Given the description of an element on the screen output the (x, y) to click on. 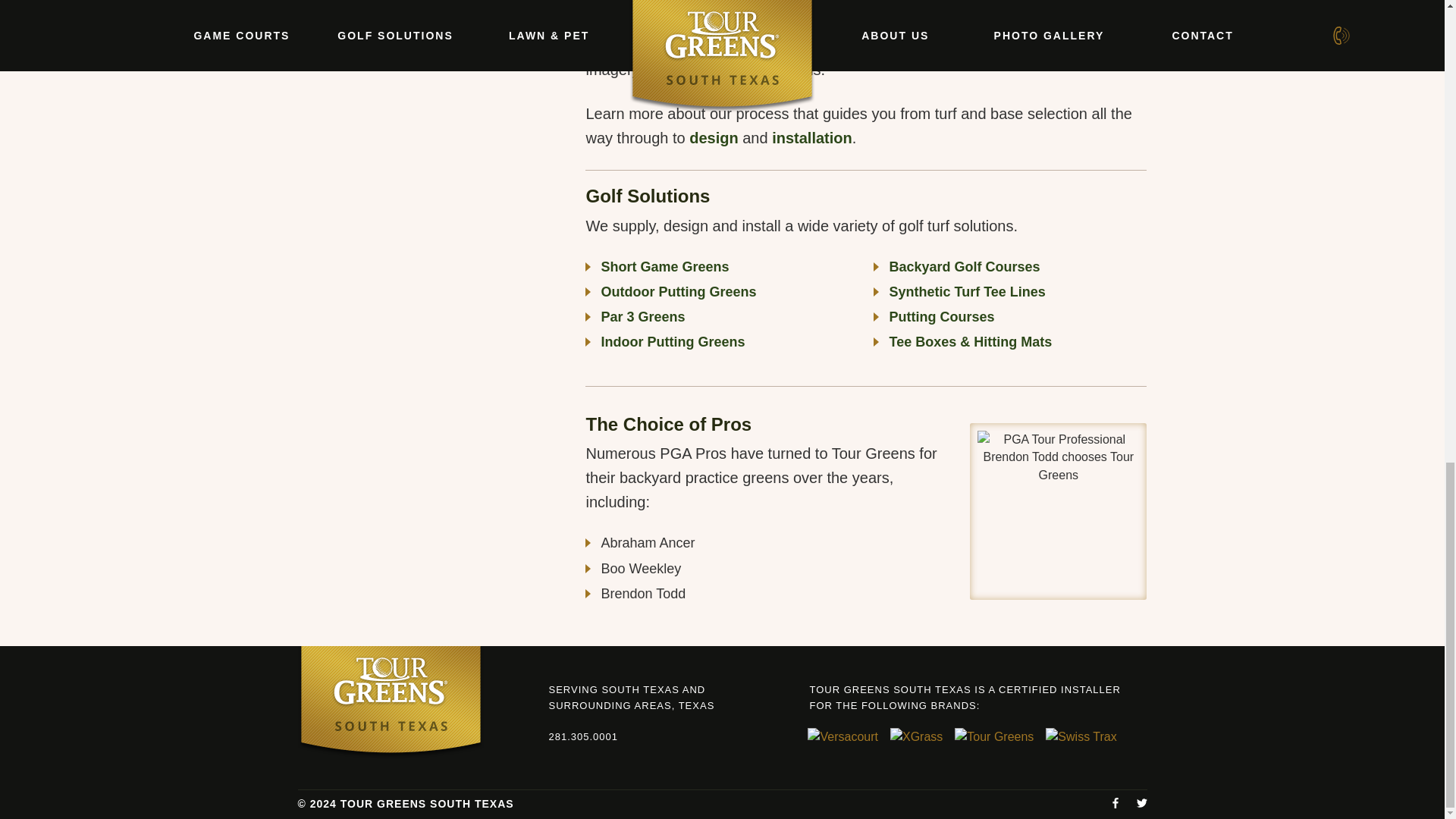
Outdoor Putting Greens (677, 291)
Short Game Greens (664, 266)
Par 3 Greens (641, 316)
Indoor Putting Greens (671, 341)
design (713, 137)
installation (811, 137)
